Given the description of an element on the screen output the (x, y) to click on. 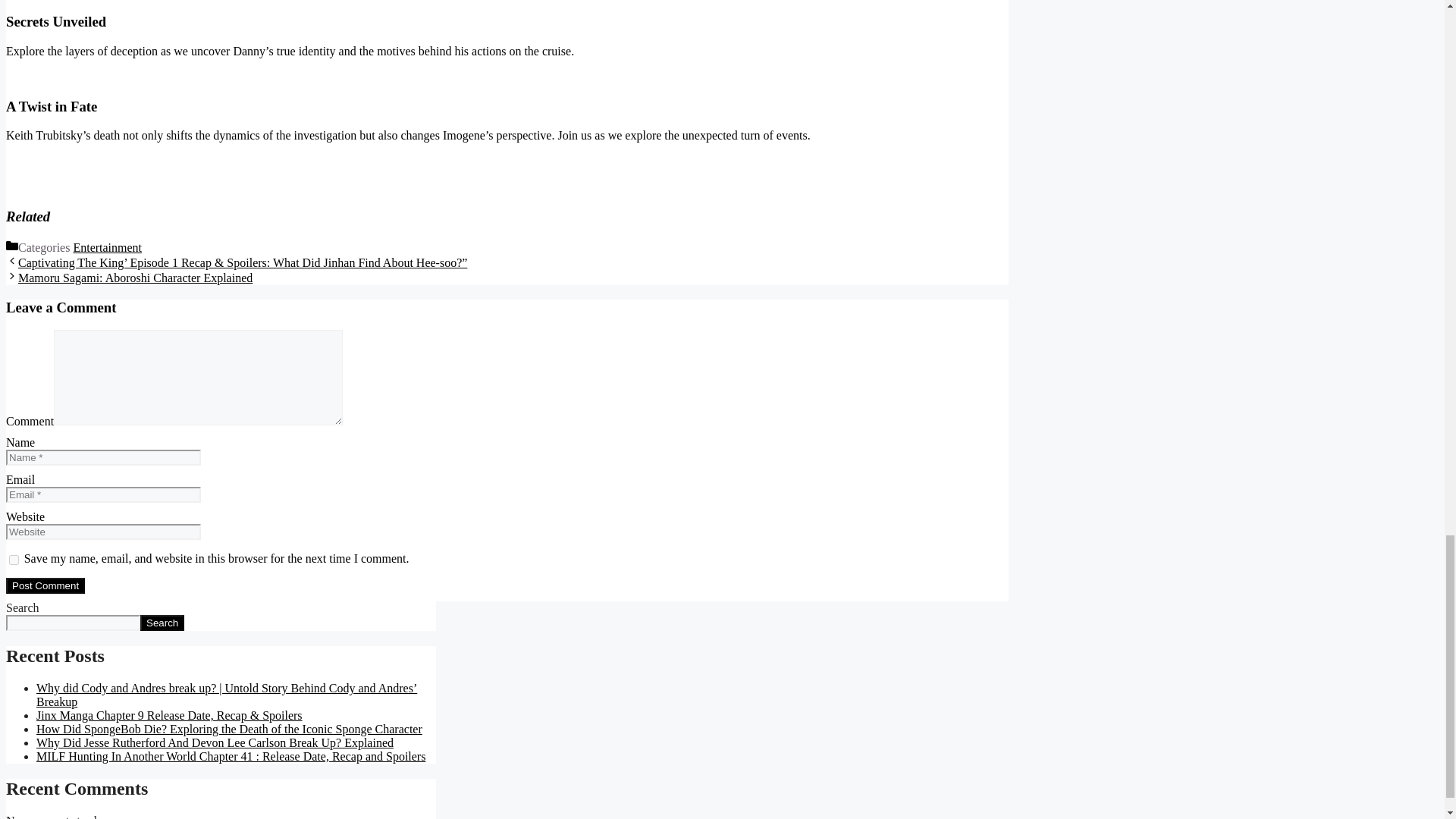
Mamoru Sagami: Aboroshi Character Explained (134, 277)
yes (13, 560)
Post Comment (44, 585)
Search (161, 622)
Post Comment (44, 585)
Entertainment (106, 246)
